Given the description of an element on the screen output the (x, y) to click on. 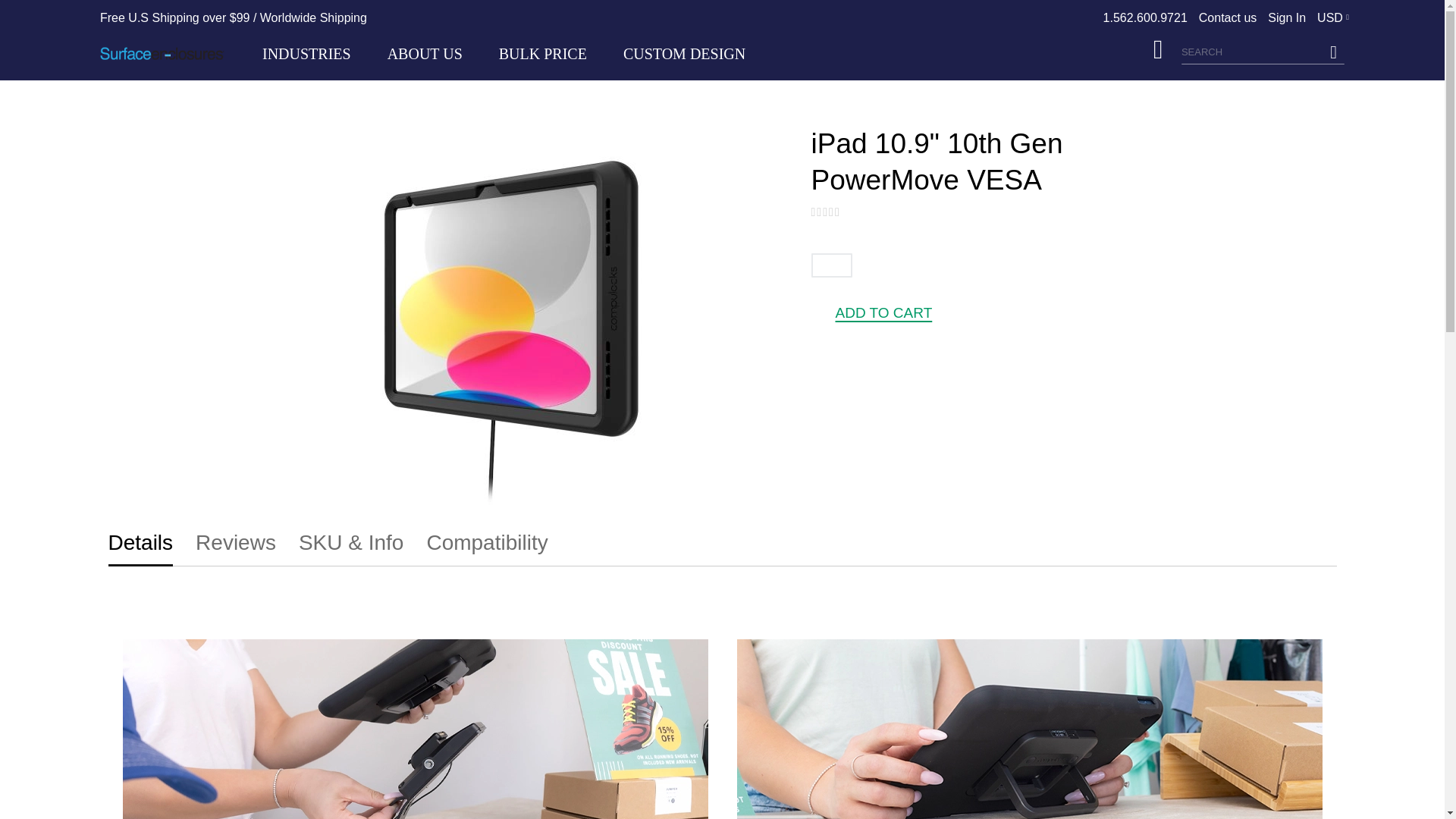
About Us (424, 53)
Sign In (1287, 17)
BULK PRICE (542, 53)
1 (830, 265)
Contact us (1227, 17)
Contact us (1227, 17)
INDUSTRIES (306, 53)
INDUSTRIES (306, 53)
Custom Design (683, 53)
ABOUT US (424, 53)
